Given the description of an element on the screen output the (x, y) to click on. 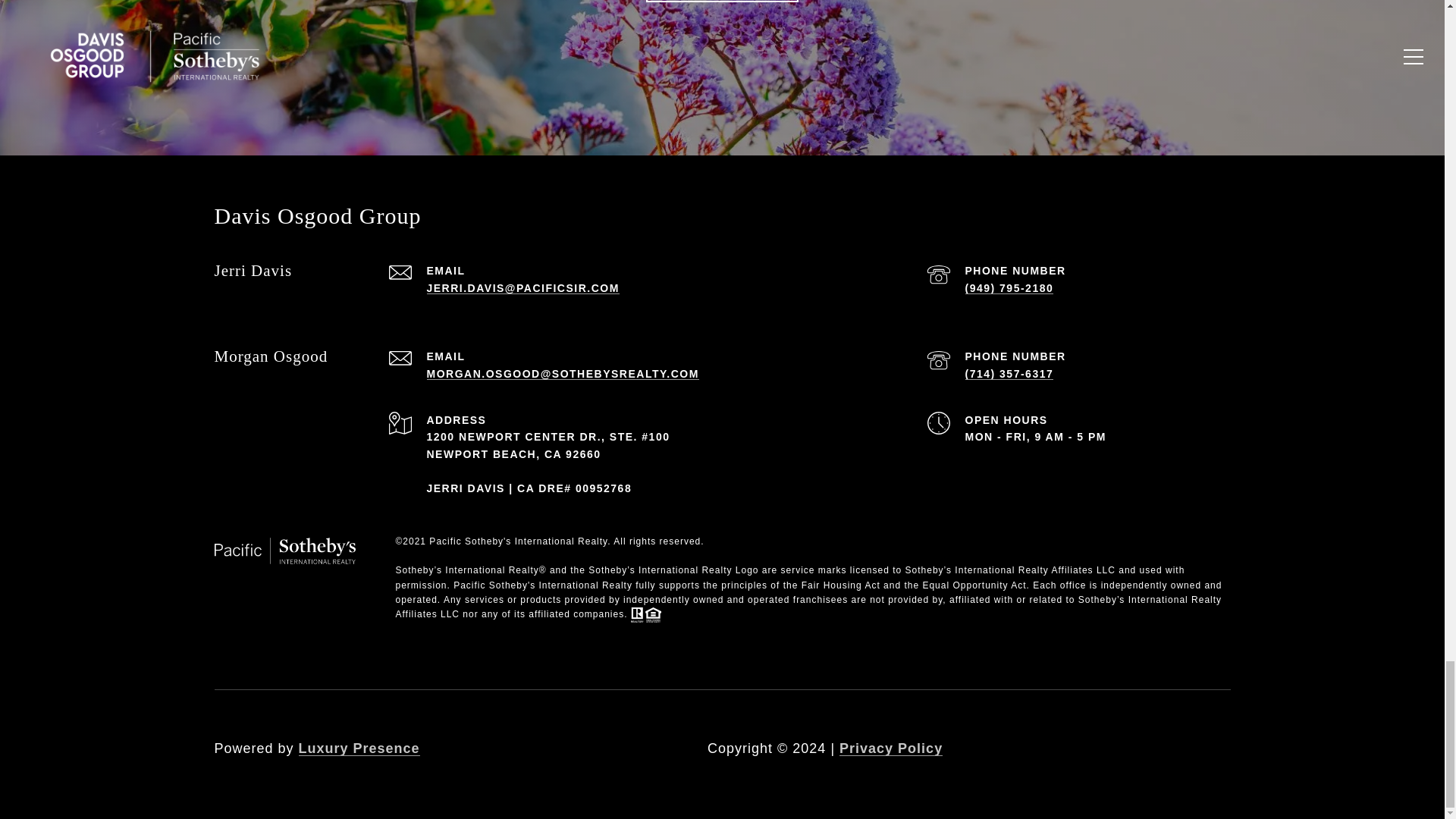
Privacy Policy (891, 748)
CONTACT US (722, 1)
Luxury Presence (359, 748)
